Given the description of an element on the screen output the (x, y) to click on. 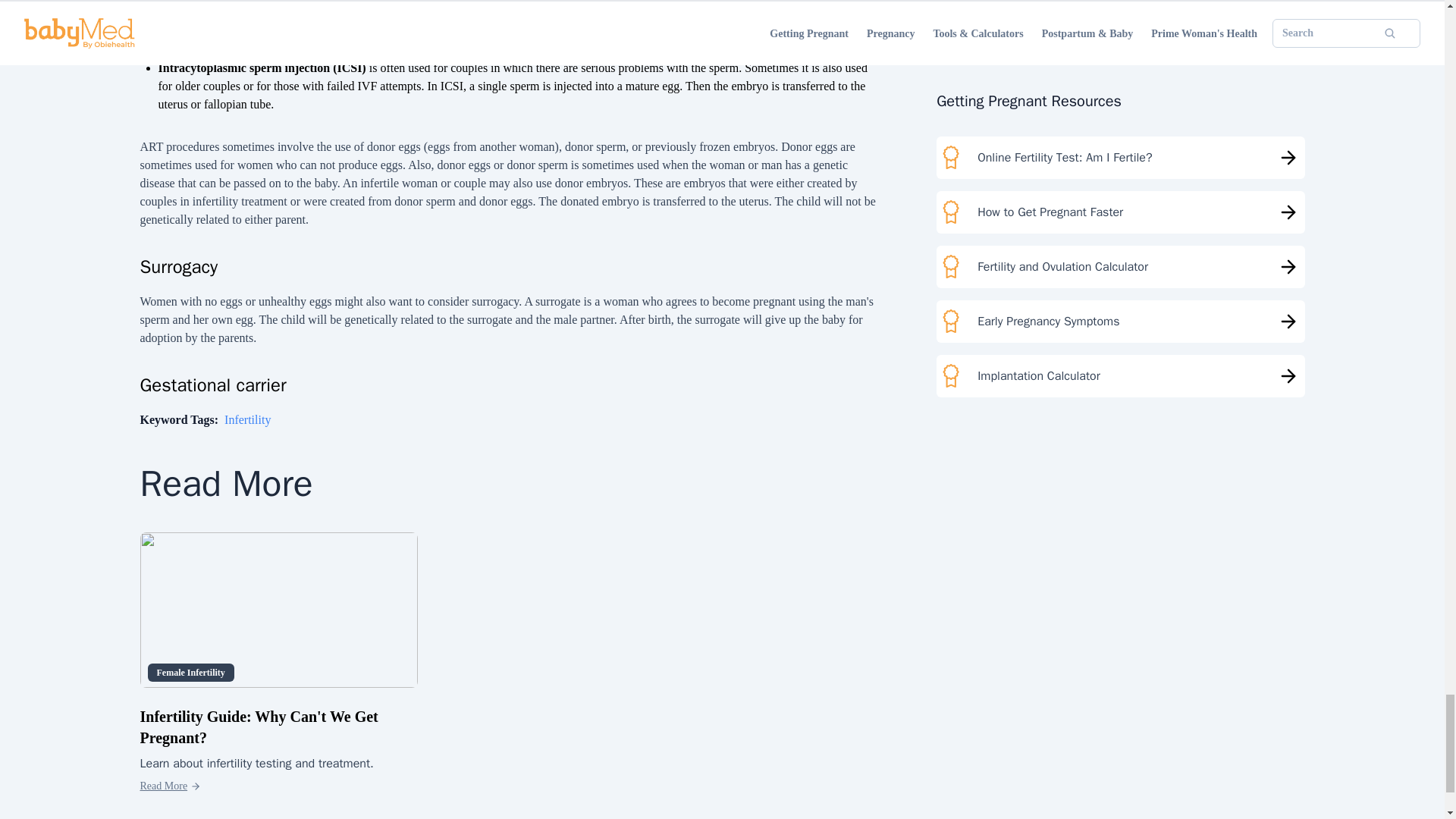
Read More (169, 785)
Keyword Tags:Infertility (204, 419)
